Given the description of an element on the screen output the (x, y) to click on. 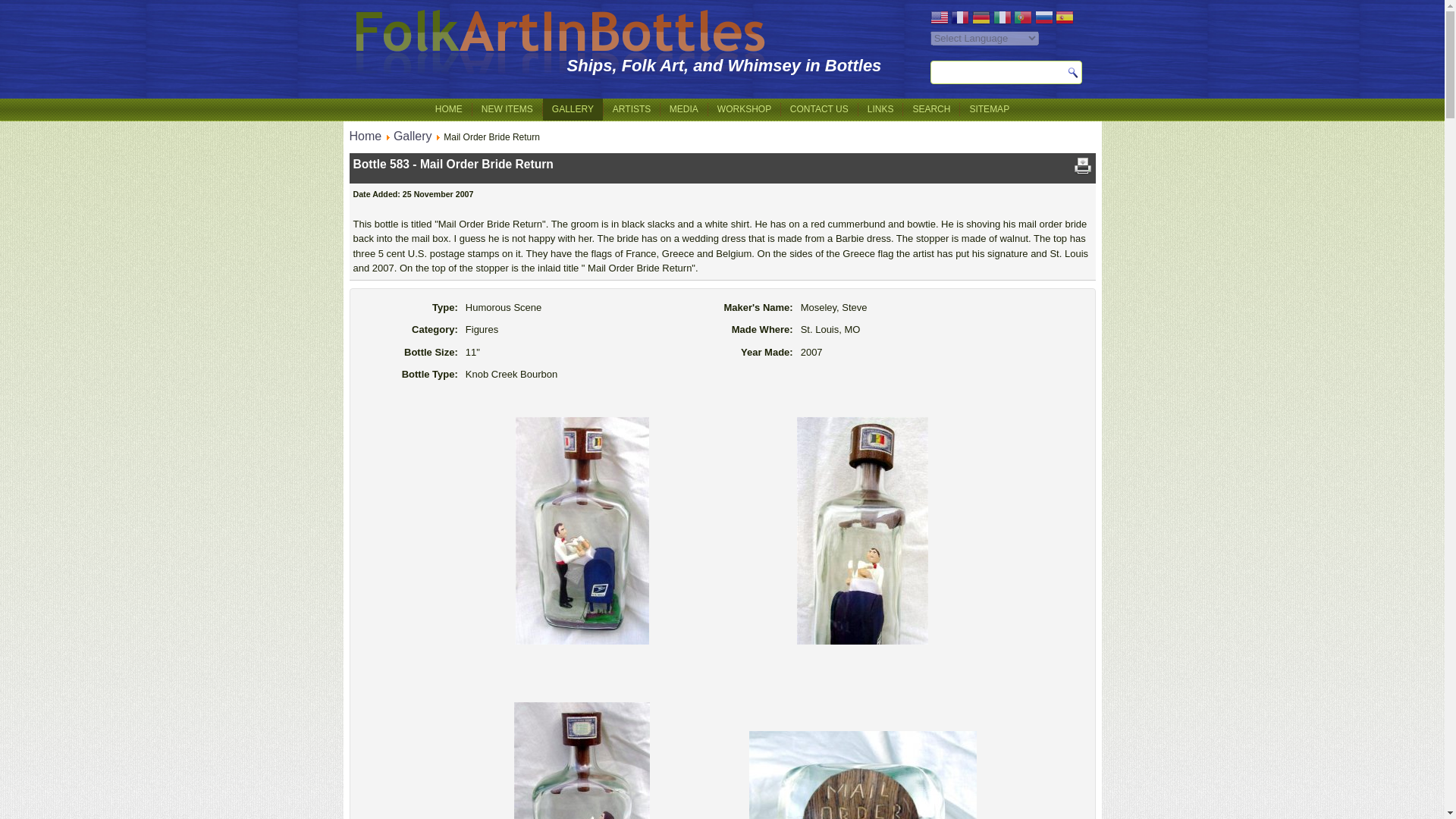
GALLERY (572, 109)
Print (1083, 171)
Ships, Folk Art, and Whimsey in Bottles (724, 65)
Bottle 583 - Humorous Scene - Mail Order Bride Return (581, 531)
HOME (448, 109)
Bottle 583 - Humorous Scene - Mail Order Bride Return (862, 531)
MEDIA (684, 109)
Bottle 583 - Humorous Scene - Mail Order Bride Return (581, 746)
NEW ITEMS (506, 109)
Bottle 583 - Humorous Scene - Mail Order Bride Return (862, 746)
ARTISTS (631, 109)
